Given the description of an element on the screen output the (x, y) to click on. 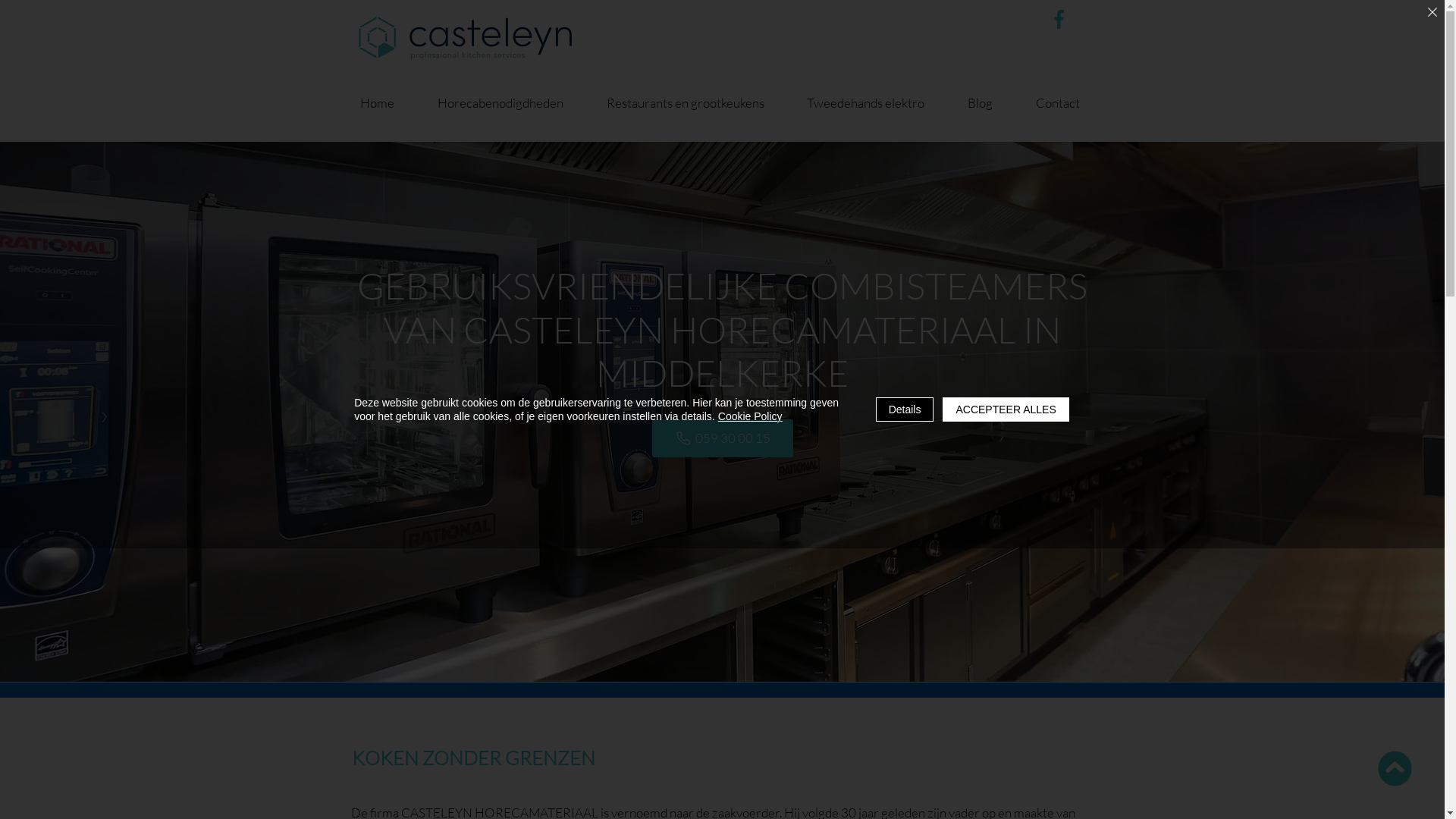
Restaurants en grootkeukens Element type: text (684, 104)
Contact Element type: text (1058, 104)
Home Element type: text (377, 104)
Casteleyn.JPG Element type: hover (464, 36)
059 30 00 15 Element type: text (722, 438)
Blog Element type: text (980, 104)
ACCEPTEER ALLES Element type: text (1005, 409)
Tweedehands elektro Element type: text (865, 104)
Horecabenodigdheden Element type: text (499, 104)
Cookie Policy Element type: text (750, 416)
Details Element type: text (904, 409)
